Given the description of an element on the screen output the (x, y) to click on. 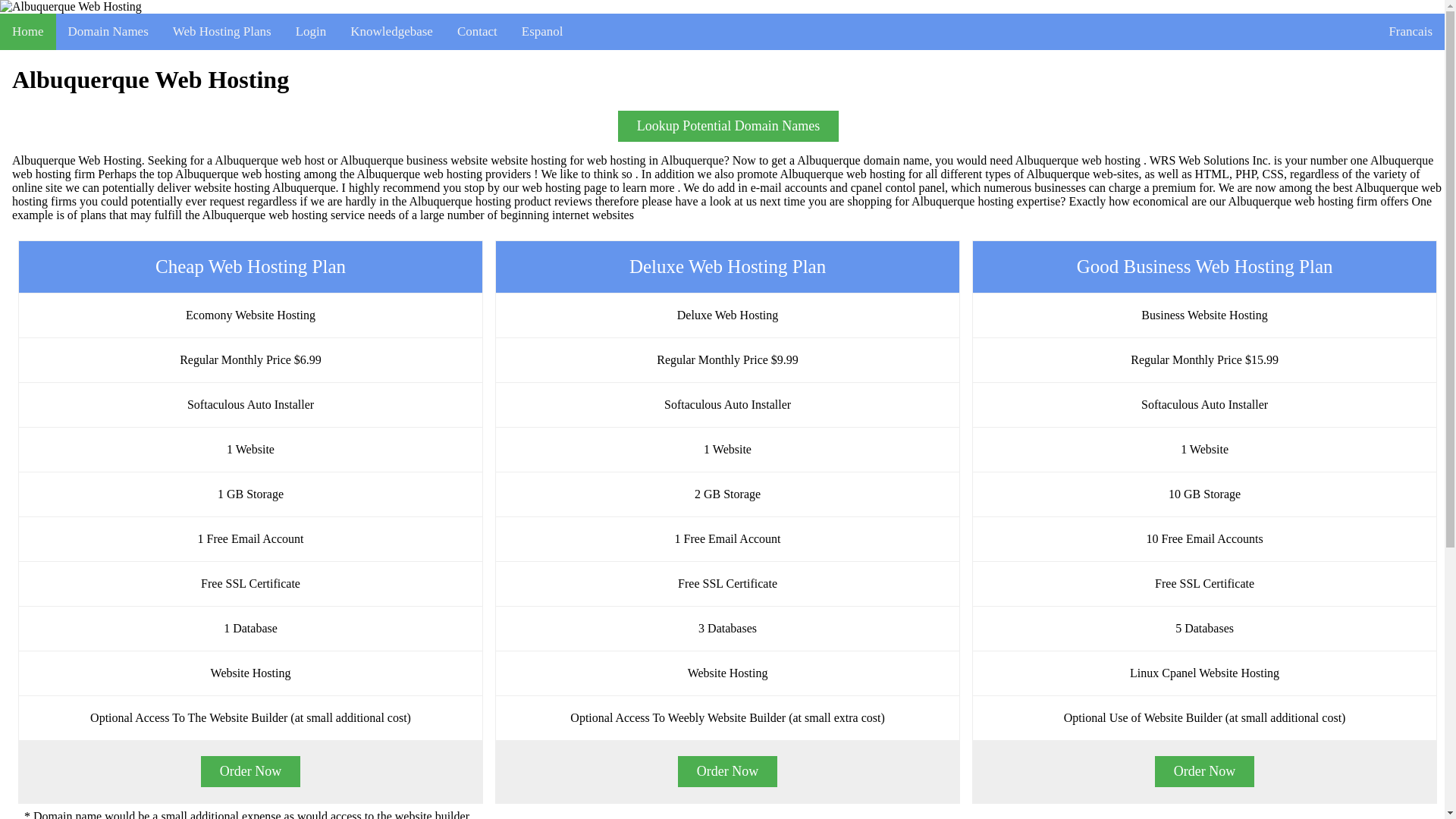
Knowledgebase (391, 31)
Espanol (542, 31)
Order Now (727, 771)
Order Now (1203, 771)
Web Hosting Plans (221, 31)
Domain Names (108, 31)
Home (28, 31)
Login (311, 31)
Order Now (249, 771)
Contact (477, 31)
Lookup Potential Domain Names (727, 125)
